Given the description of an element on the screen output the (x, y) to click on. 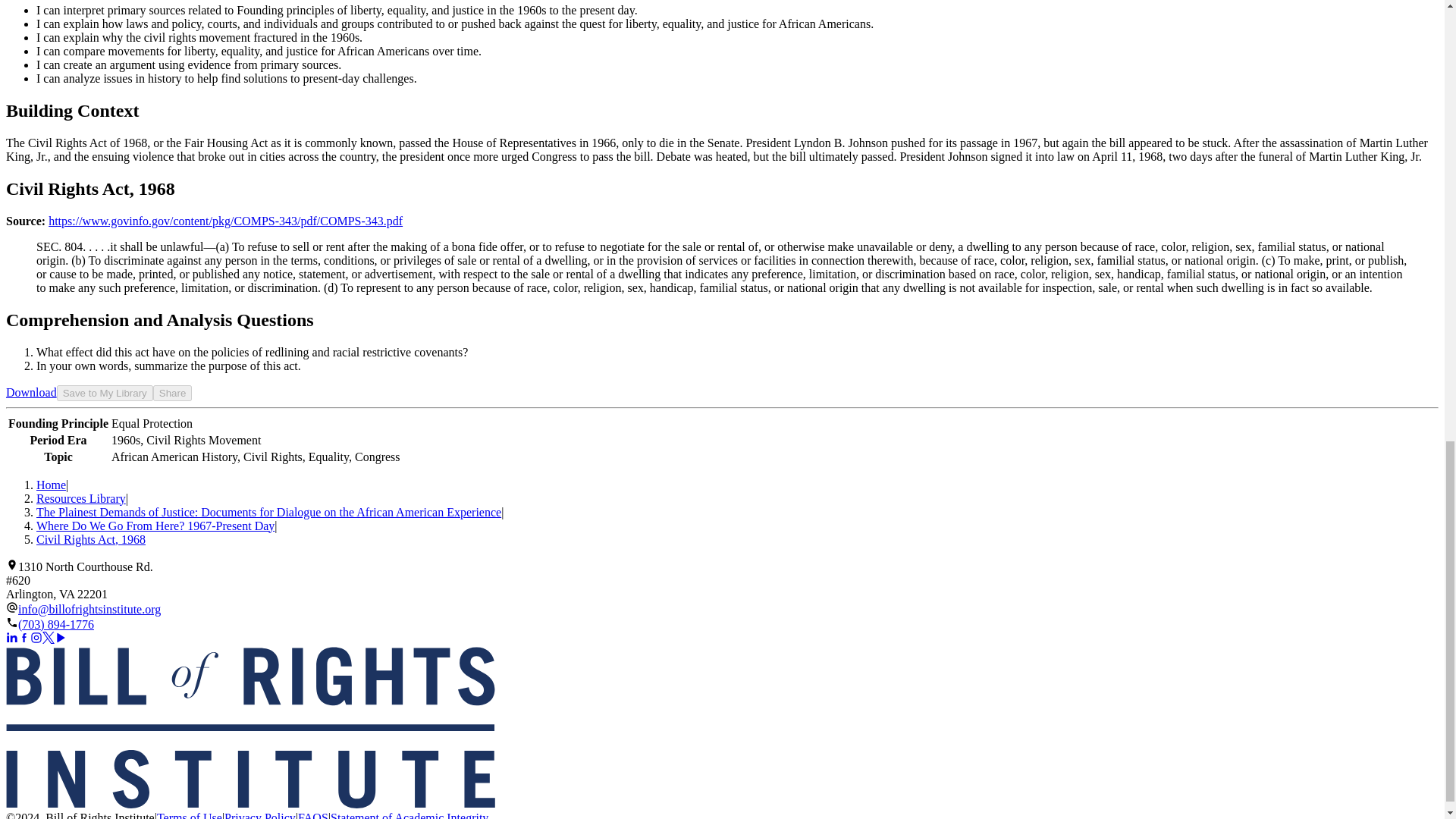
Address icon (11, 563)
Follow us on instagram (36, 636)
Phone icon (11, 621)
Follow us on linkedin (11, 636)
Follow us on youtube (60, 636)
Follow us on facebook (23, 636)
Follow us on twitter (48, 636)
Email icon (11, 606)
